Given the description of an element on the screen output the (x, y) to click on. 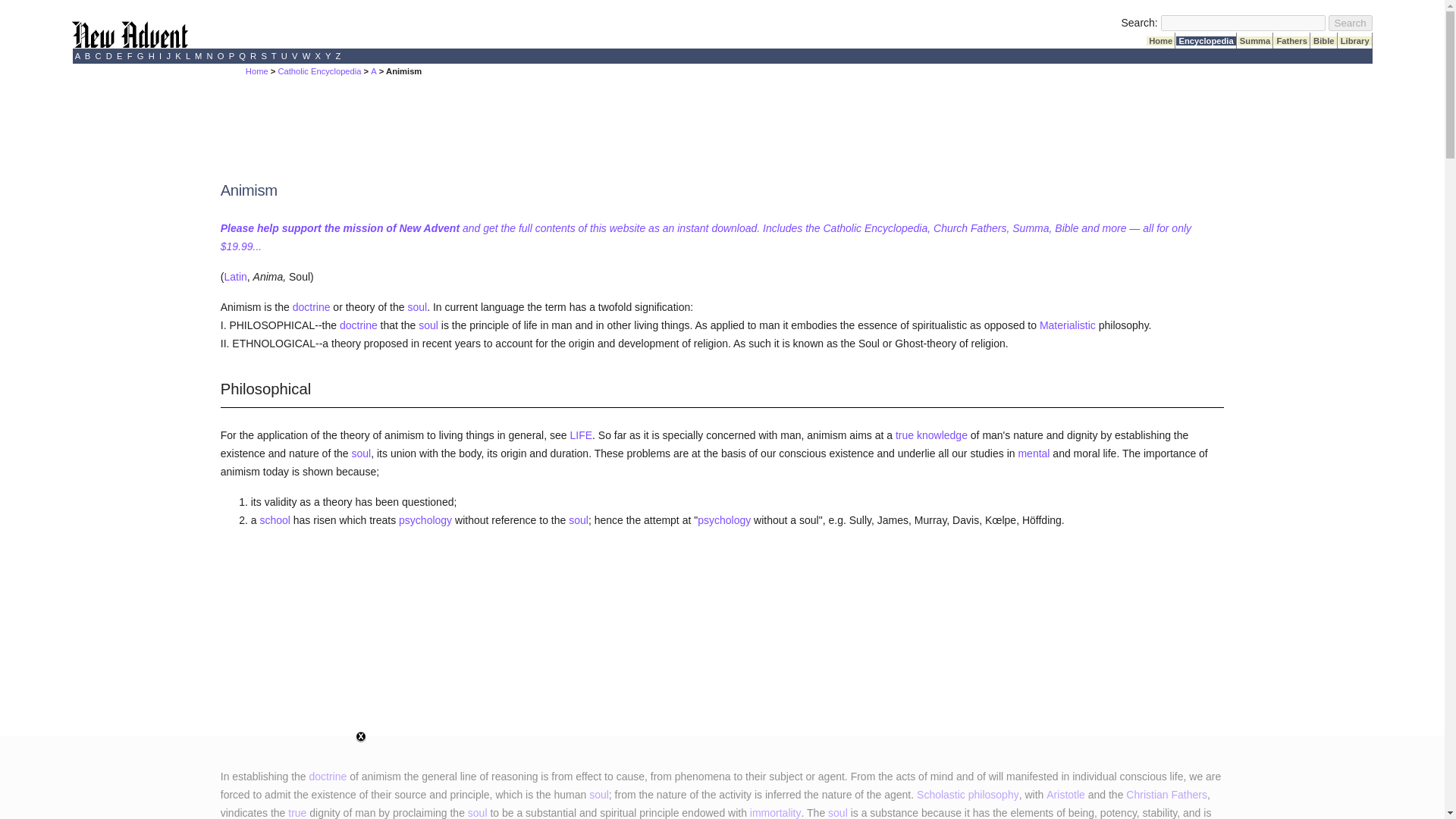
 G  (141, 55)
 K  (178, 55)
Search (1350, 23)
 H  (152, 55)
 Library  (1354, 40)
 U  (284, 55)
 P  (231, 55)
 D  (109, 55)
 O  (221, 55)
 Y  (328, 55)
 X  (318, 55)
 Summa  (1254, 40)
 Z  (337, 55)
 M  (198, 55)
 C  (98, 55)
